Given the description of an element on the screen output the (x, y) to click on. 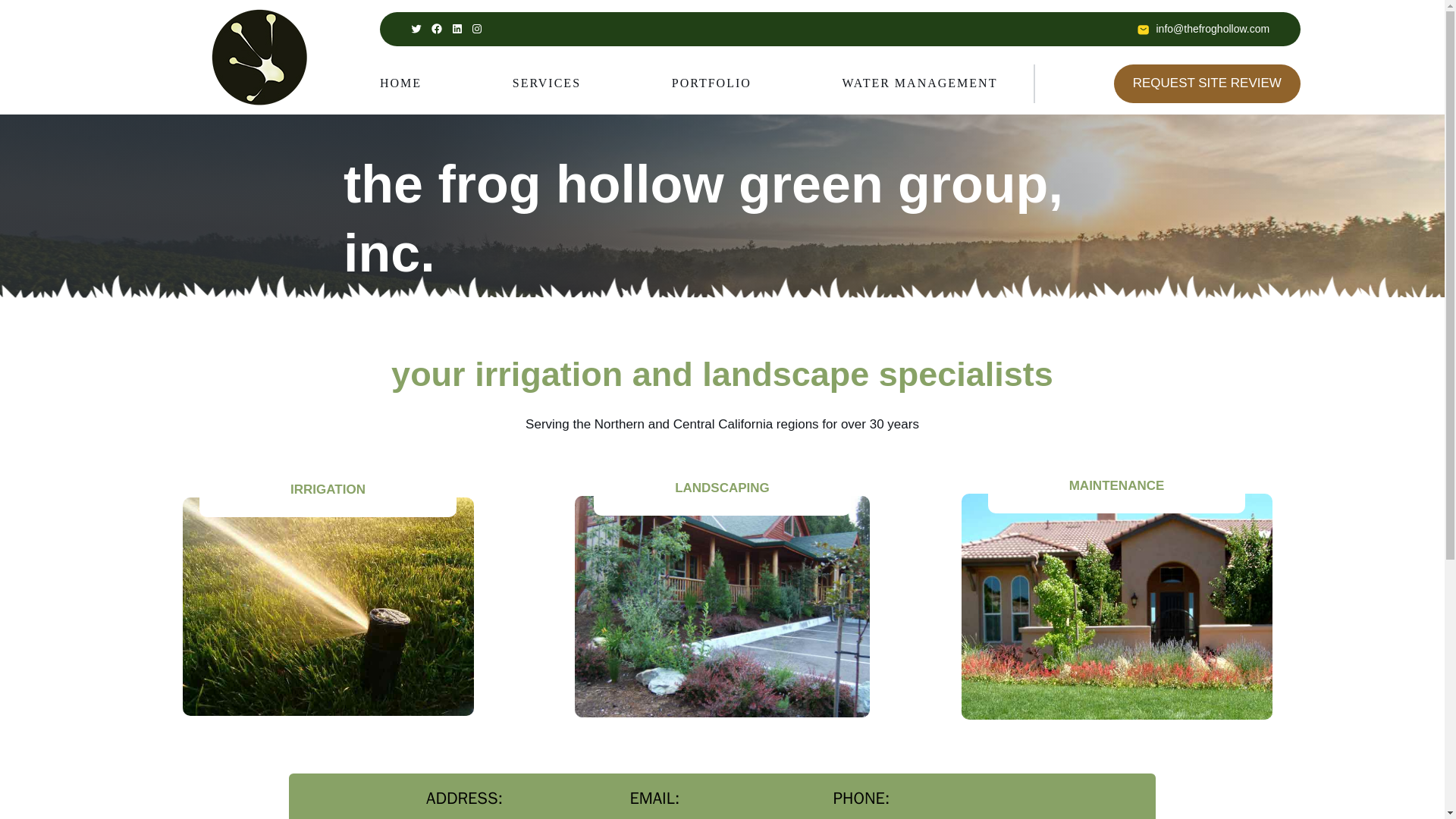
Twitter (416, 28)
PORTFOLIO (711, 83)
Facebook (436, 28)
Instagram (476, 28)
WATER MANAGEMENT (920, 83)
HOME (401, 83)
LinkedIn (457, 28)
SERVICES (546, 83)
REQUEST SITE REVIEW (1206, 83)
